Given the description of an element on the screen output the (x, y) to click on. 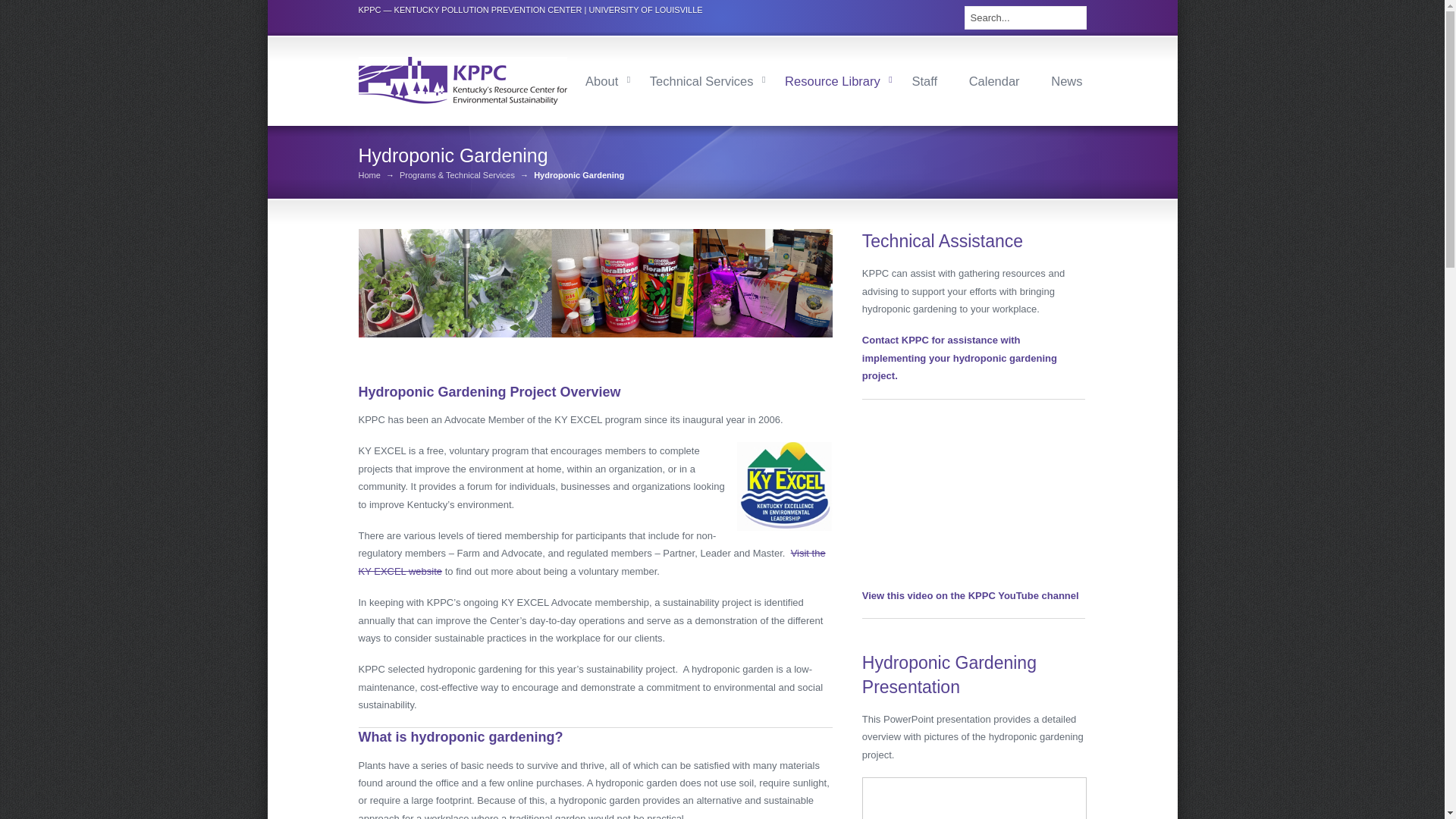
Calendar (994, 80)
Resource Library (831, 80)
Home (369, 175)
Visit the KY EXCEL website (591, 561)
Technical Services (701, 80)
Staff (923, 80)
Visit the KY EXCEL website. (782, 486)
Search... (1024, 17)
News (1066, 80)
About (600, 80)
